Given the description of an element on the screen output the (x, y) to click on. 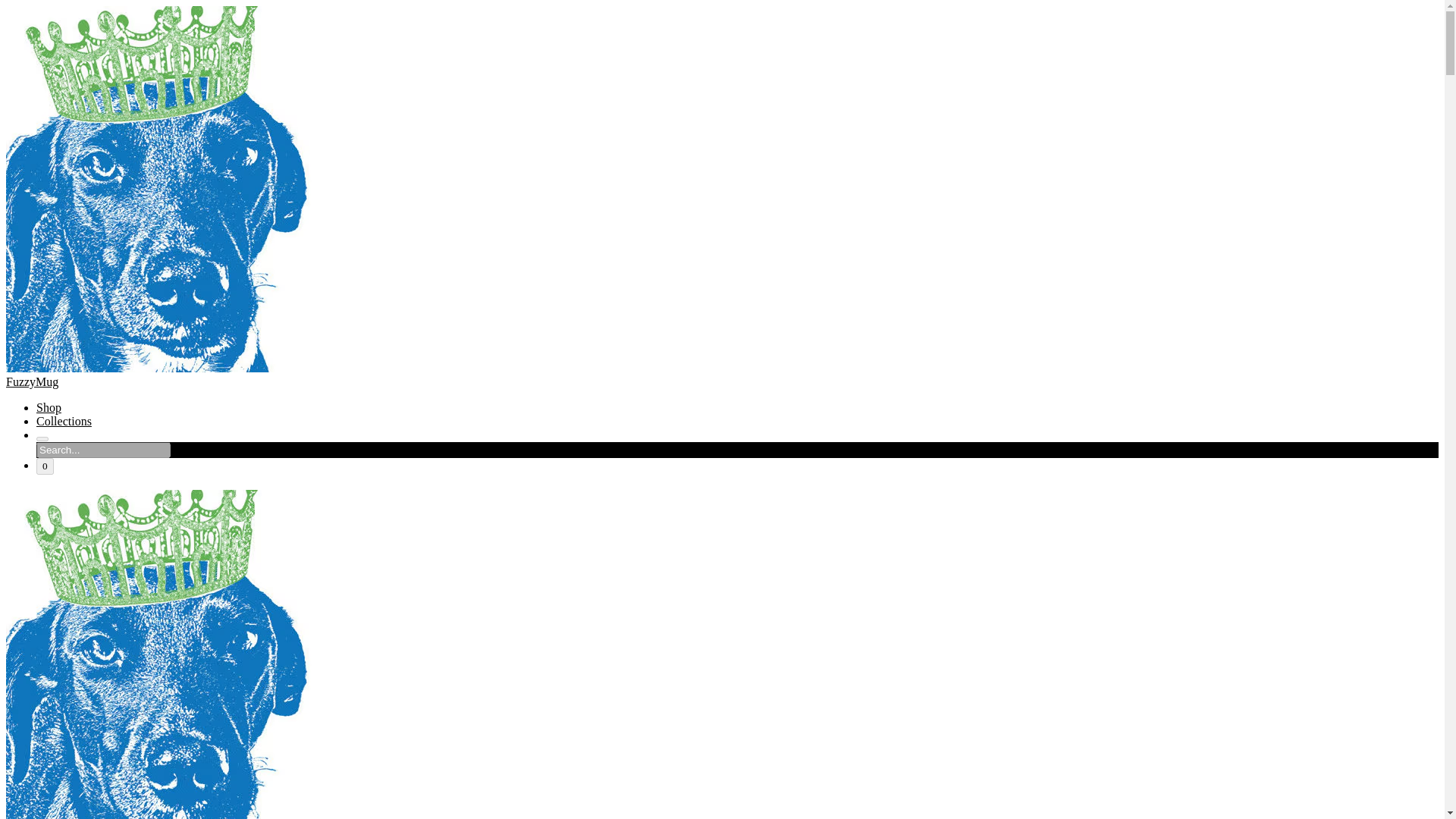
0 (44, 466)
Shop (48, 407)
Collections (63, 420)
